Given the description of an element on the screen output the (x, y) to click on. 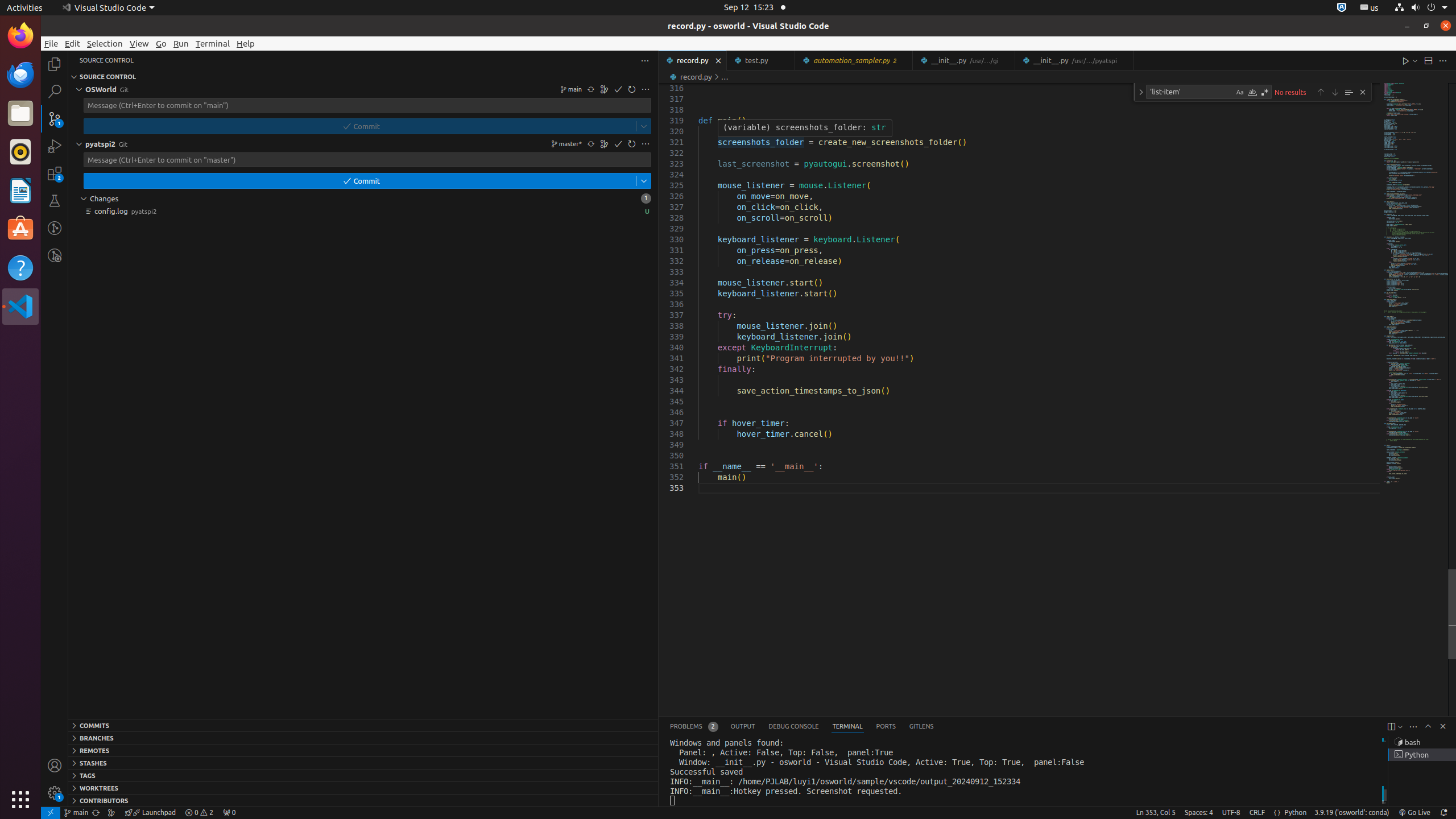
Worktrees Section Element type: push-button (363, 787)
Commits Section Element type: push-button (363, 724)
CRLF Element type: push-button (1257, 812)
